Given the description of an element on the screen output the (x, y) to click on. 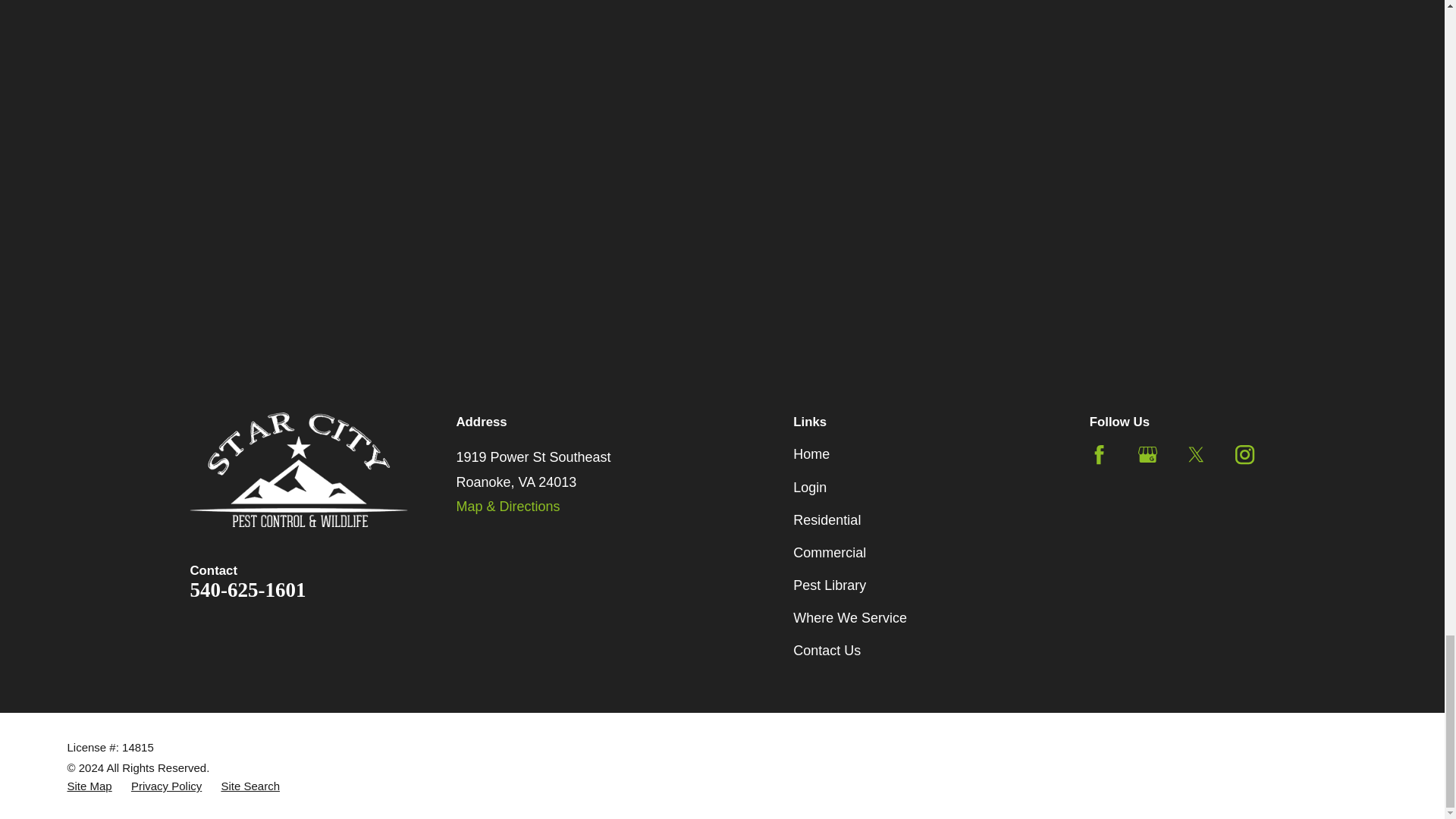
Instagram (1243, 454)
Home (298, 469)
Twitter (1195, 454)
Facebook (1098, 454)
Google Business Profile (1147, 454)
